Given the description of an element on the screen output the (x, y) to click on. 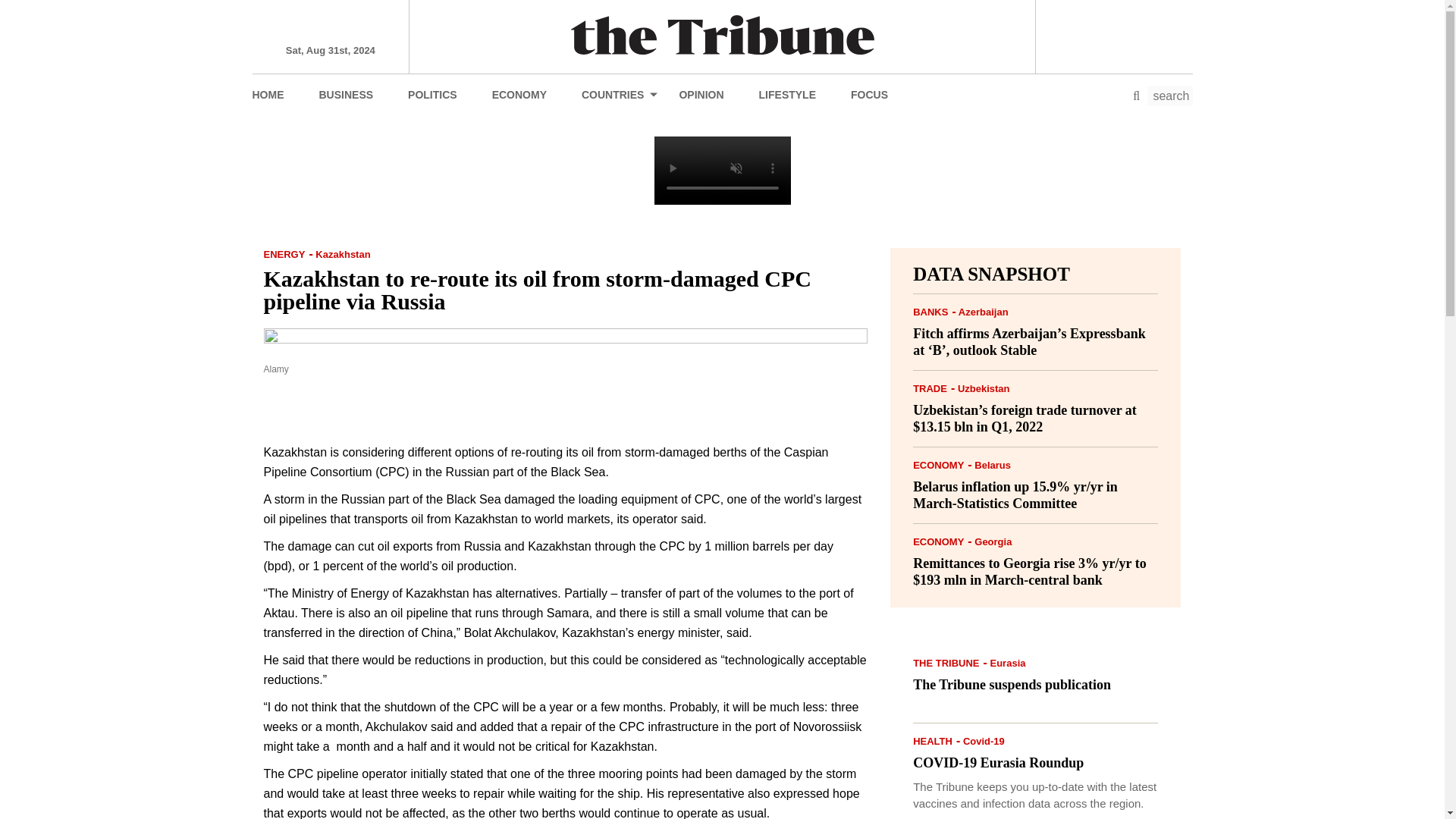
COUNTRIES (611, 94)
LIFESTYLE (786, 94)
HOME (267, 94)
View all posts in category (932, 740)
View all posts in category (284, 254)
ECONOMY (519, 94)
View all posts in category (945, 663)
View all posts in Azerbaijan (983, 311)
View all posts in Kazakhstan (342, 254)
POLITICS (432, 94)
